Given the description of an element on the screen output the (x, y) to click on. 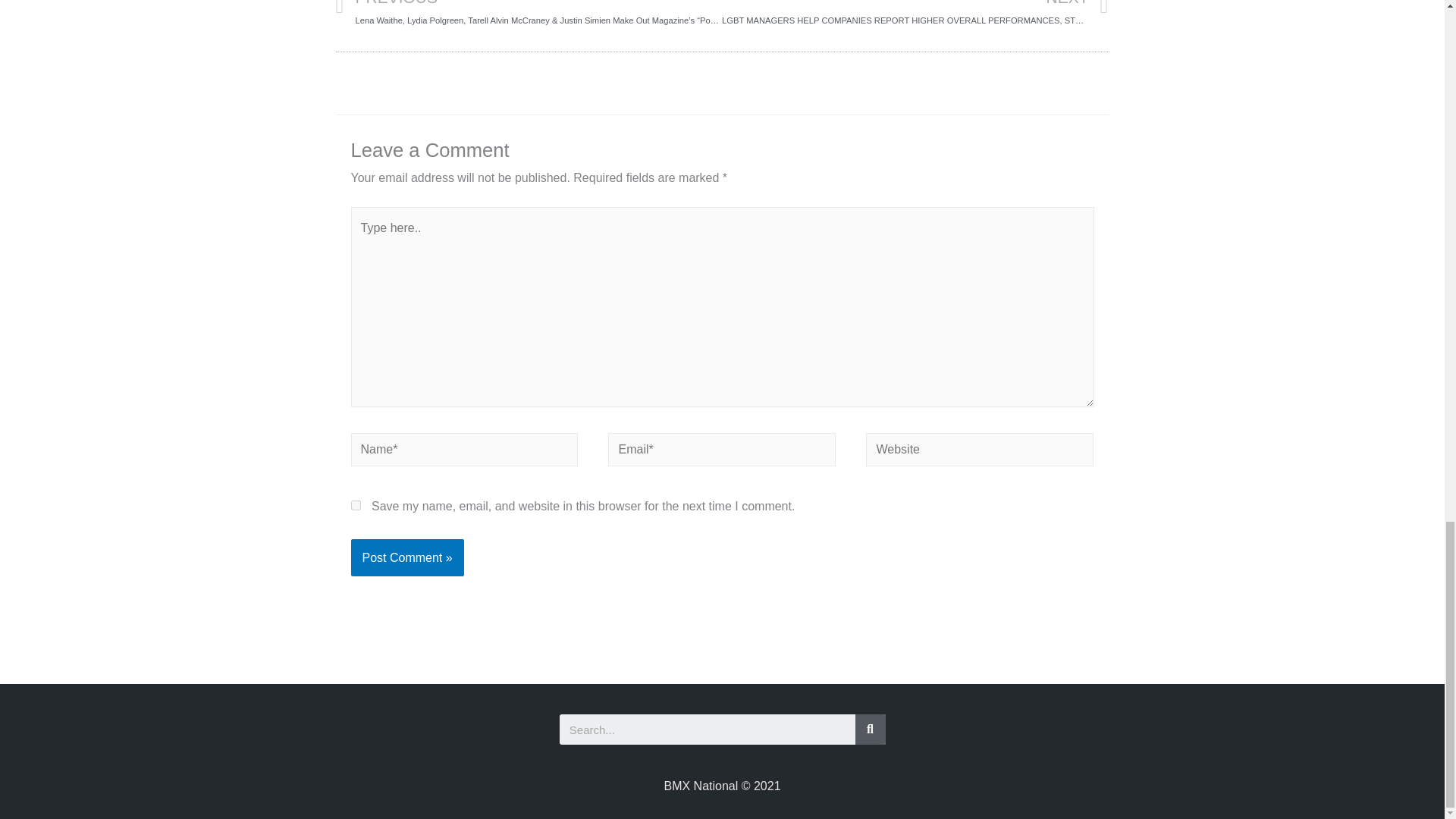
Search (870, 729)
yes (354, 505)
Search (707, 729)
